Given the description of an element on the screen output the (x, y) to click on. 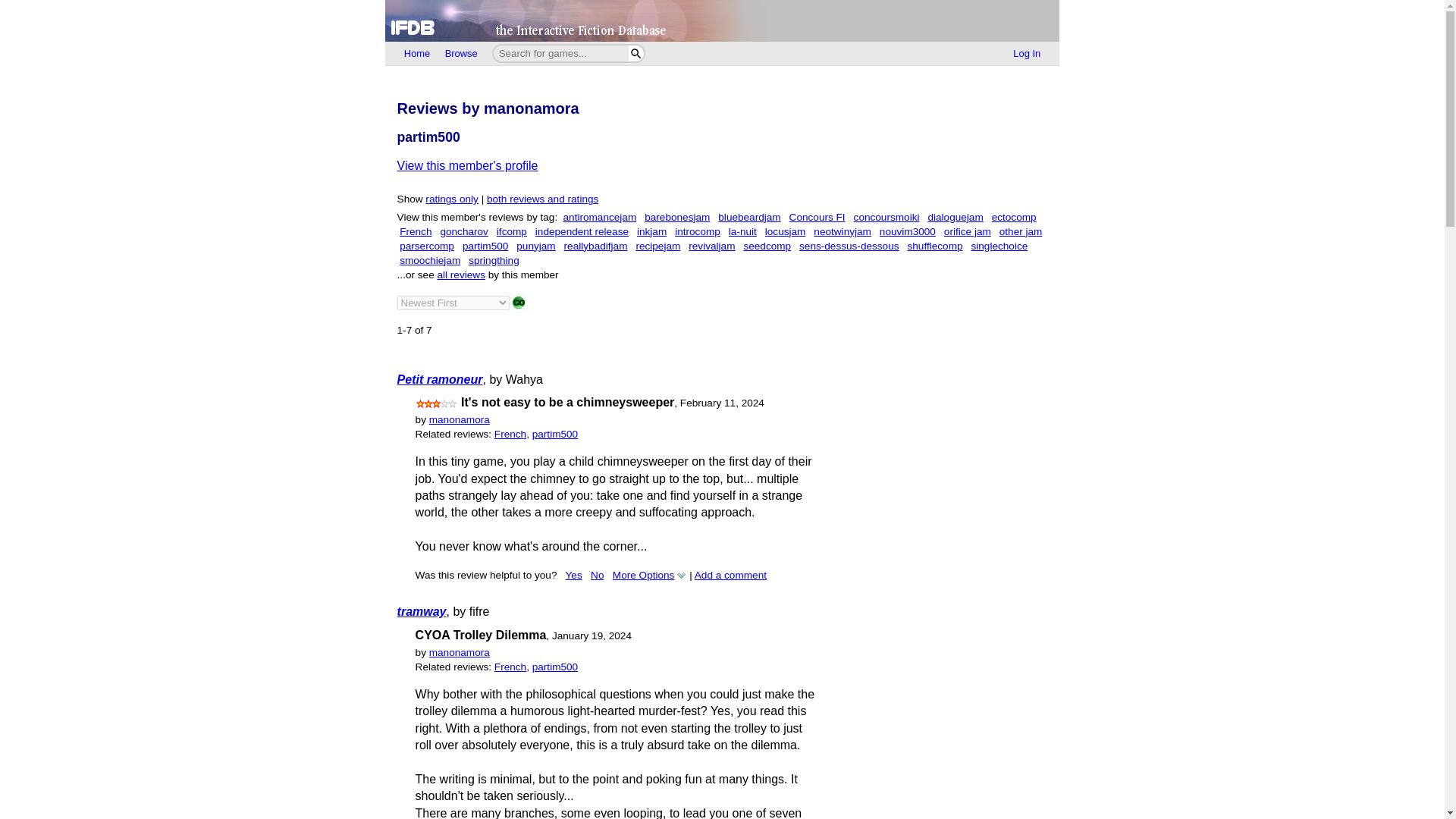
nouvim3000 (907, 231)
concoursmoiki (886, 216)
seedcomp (766, 245)
Log In (1027, 53)
ectocomp (1013, 216)
smoochiejam (429, 260)
independent release (581, 231)
revivaljam (711, 245)
ifcomp (511, 231)
dialoguejam (954, 216)
